Given the description of an element on the screen output the (x, y) to click on. 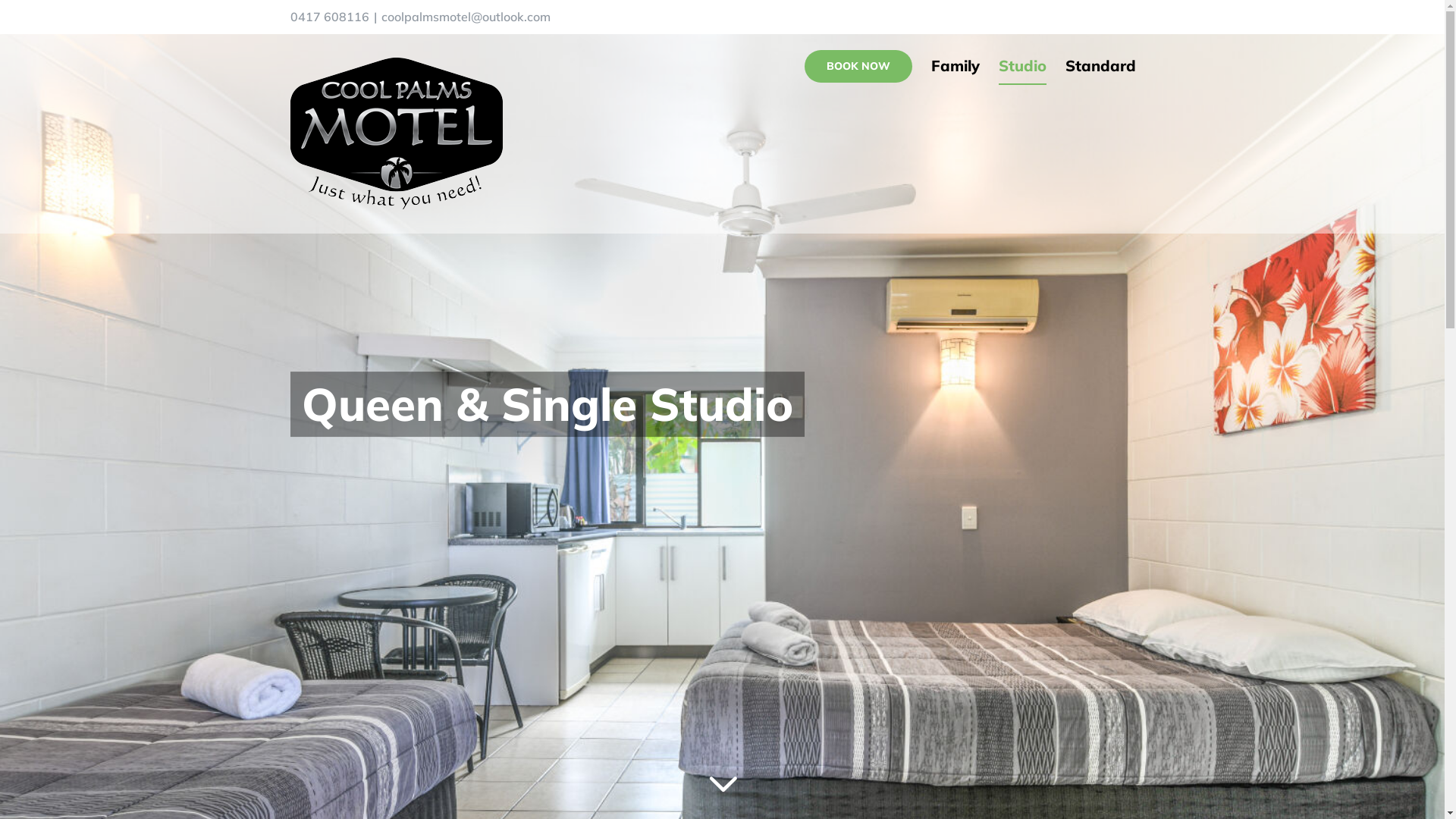
coolpalmsmotel@outlook.com Element type: text (464, 16)
BOOK NOW Element type: text (857, 65)
Family Element type: text (955, 65)
Studio Element type: text (1021, 65)
Standard Element type: text (1099, 65)
